Given the description of an element on the screen output the (x, y) to click on. 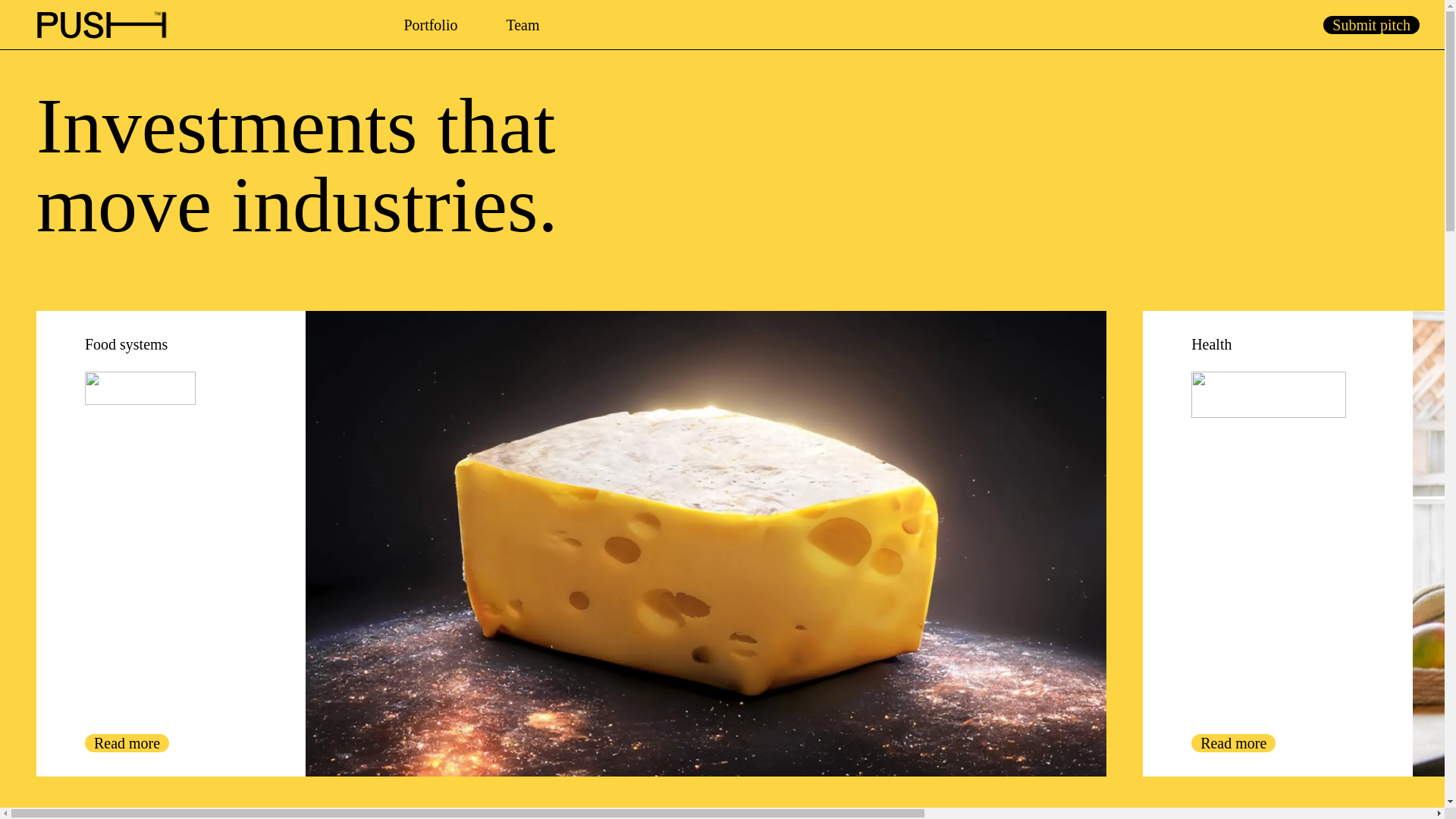
Read more (126, 742)
Team (522, 24)
Portfolio (429, 24)
Read more (1233, 742)
Submit pitch (1371, 24)
